Given the description of an element on the screen output the (x, y) to click on. 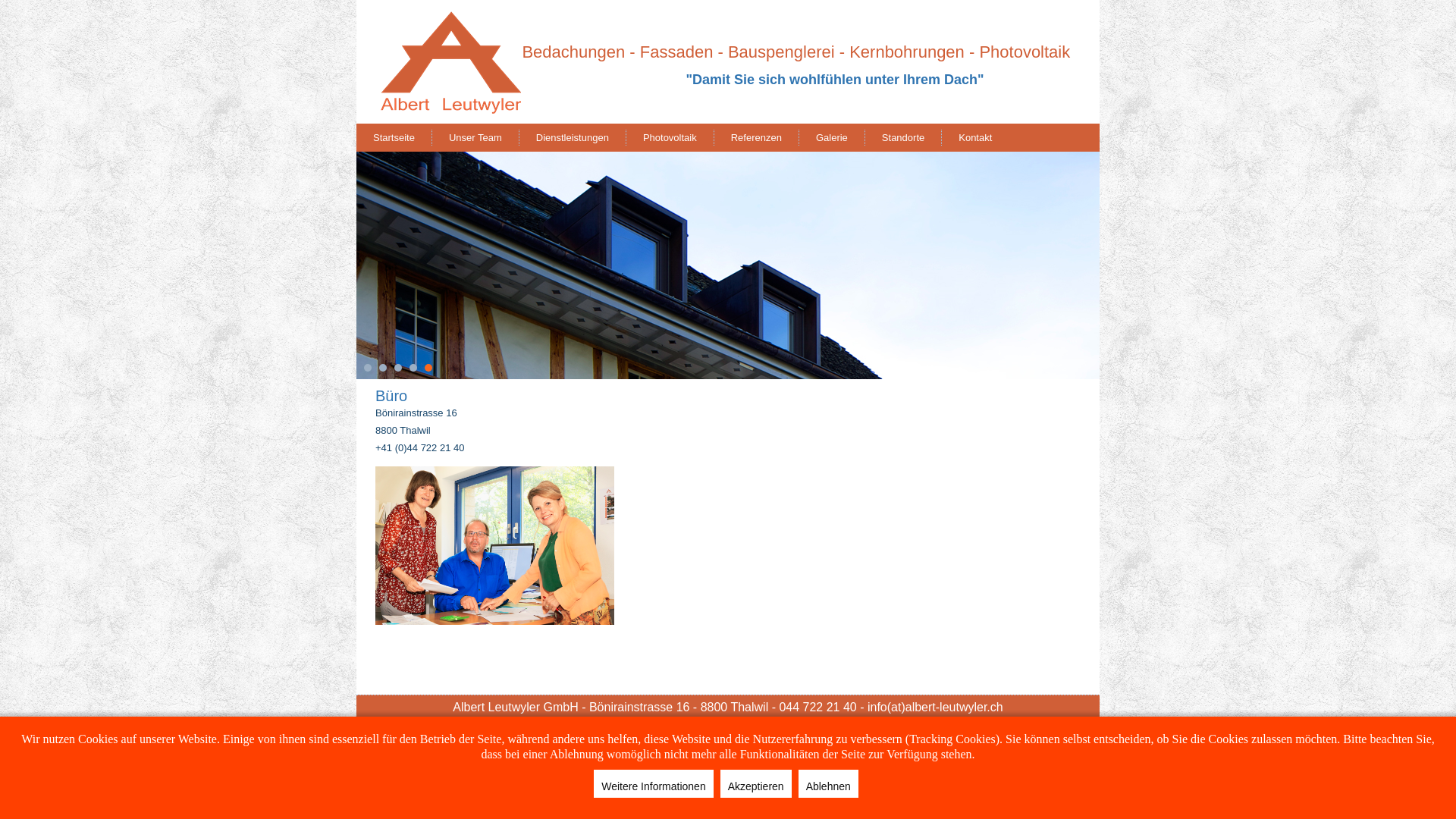
Impressum Element type: text (624, 724)
Datenschutz Element type: text (782, 724)
Referenzen Element type: text (756, 137)
Weitere Informationen Element type: text (652, 783)
Startseite Element type: text (393, 137)
Photovoltaik Element type: text (669, 137)
Kontakt Element type: text (974, 137)
Sitemap Element type: text (837, 724)
Unser Team Element type: text (475, 137)
Standorte Element type: text (903, 137)
Ablehnen Element type: text (828, 783)
Galerie Element type: text (831, 137)
Dienstleistungen Element type: text (572, 137)
Haftungsausschluss Element type: text (702, 724)
Akzeptieren Element type: text (755, 783)
